Given the description of an element on the screen output the (x, y) to click on. 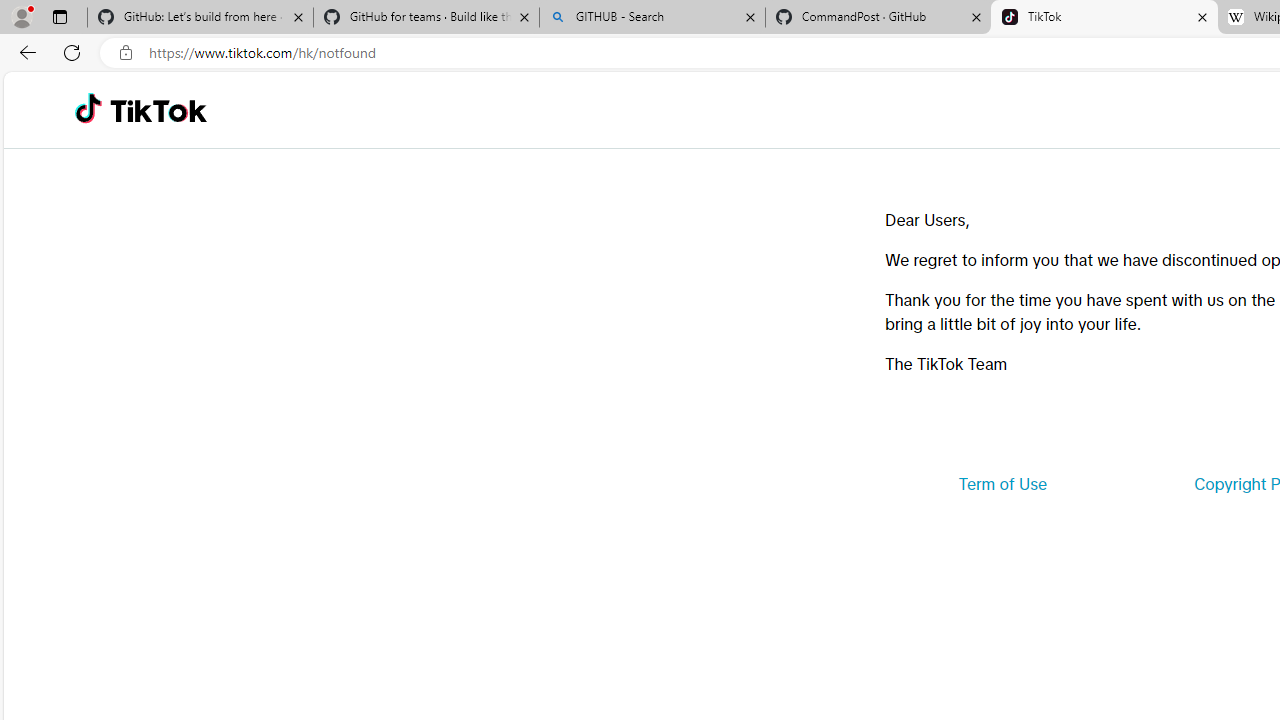
Term of Use (1002, 484)
GITHUB - Search (652, 17)
TikTok (1104, 17)
TikTok (158, 110)
